Given the description of an element on the screen output the (x, y) to click on. 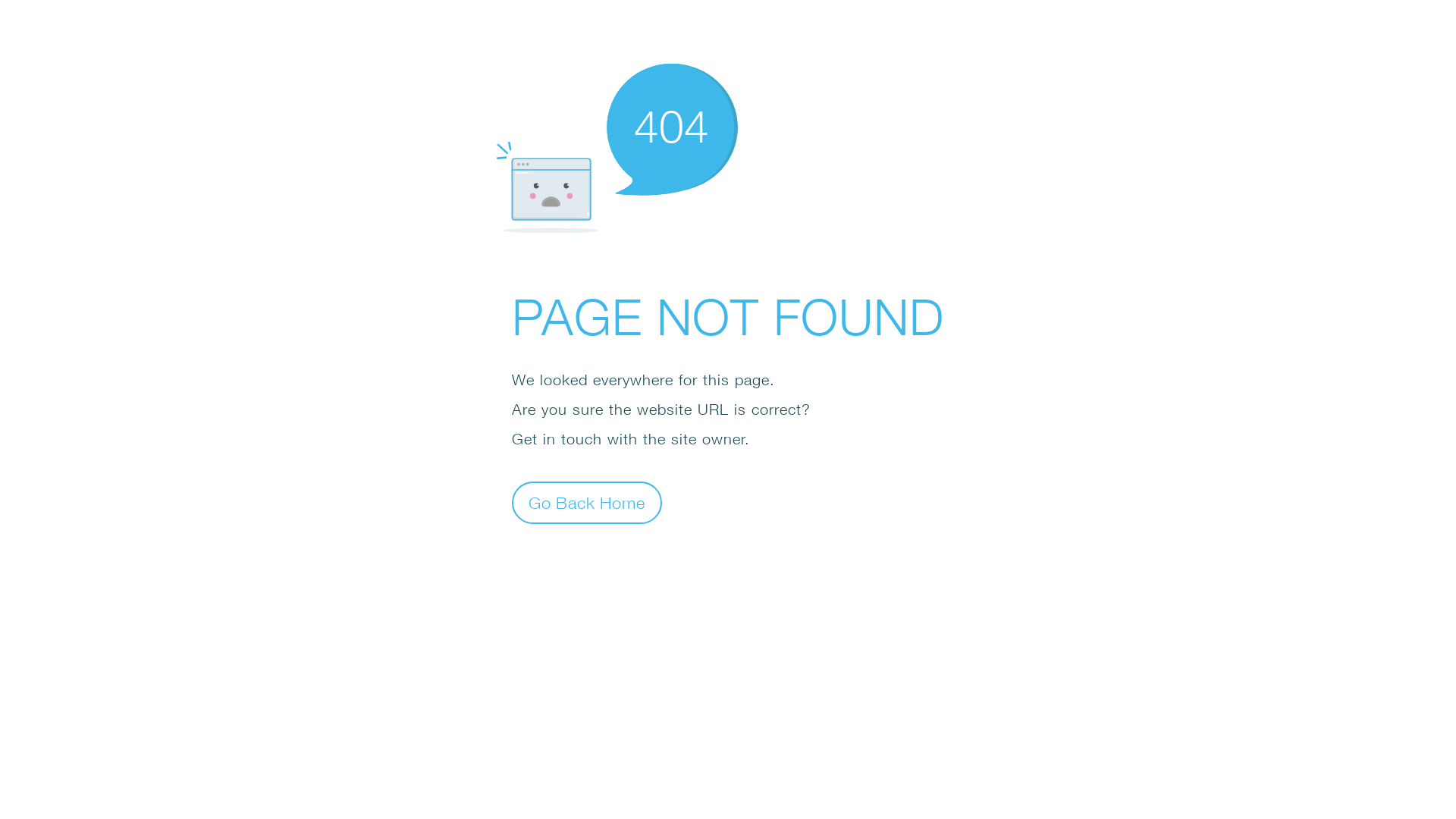
Go Back Home Element type: text (586, 502)
